Given the description of an element on the screen output the (x, y) to click on. 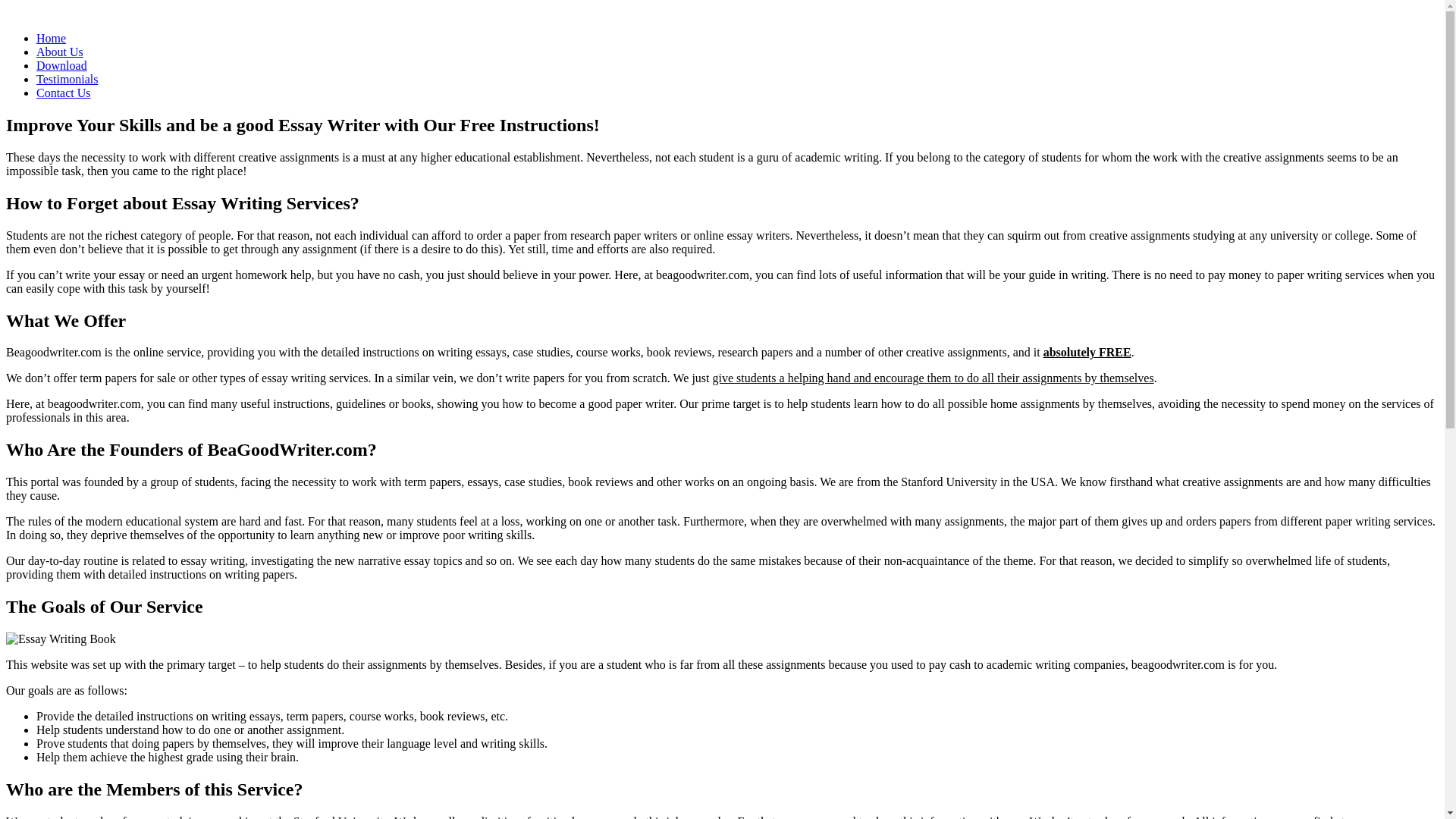
Testimonials (67, 78)
Home (50, 38)
Contact Us (63, 92)
About Us (59, 51)
Download (61, 65)
